Given the description of an element on the screen output the (x, y) to click on. 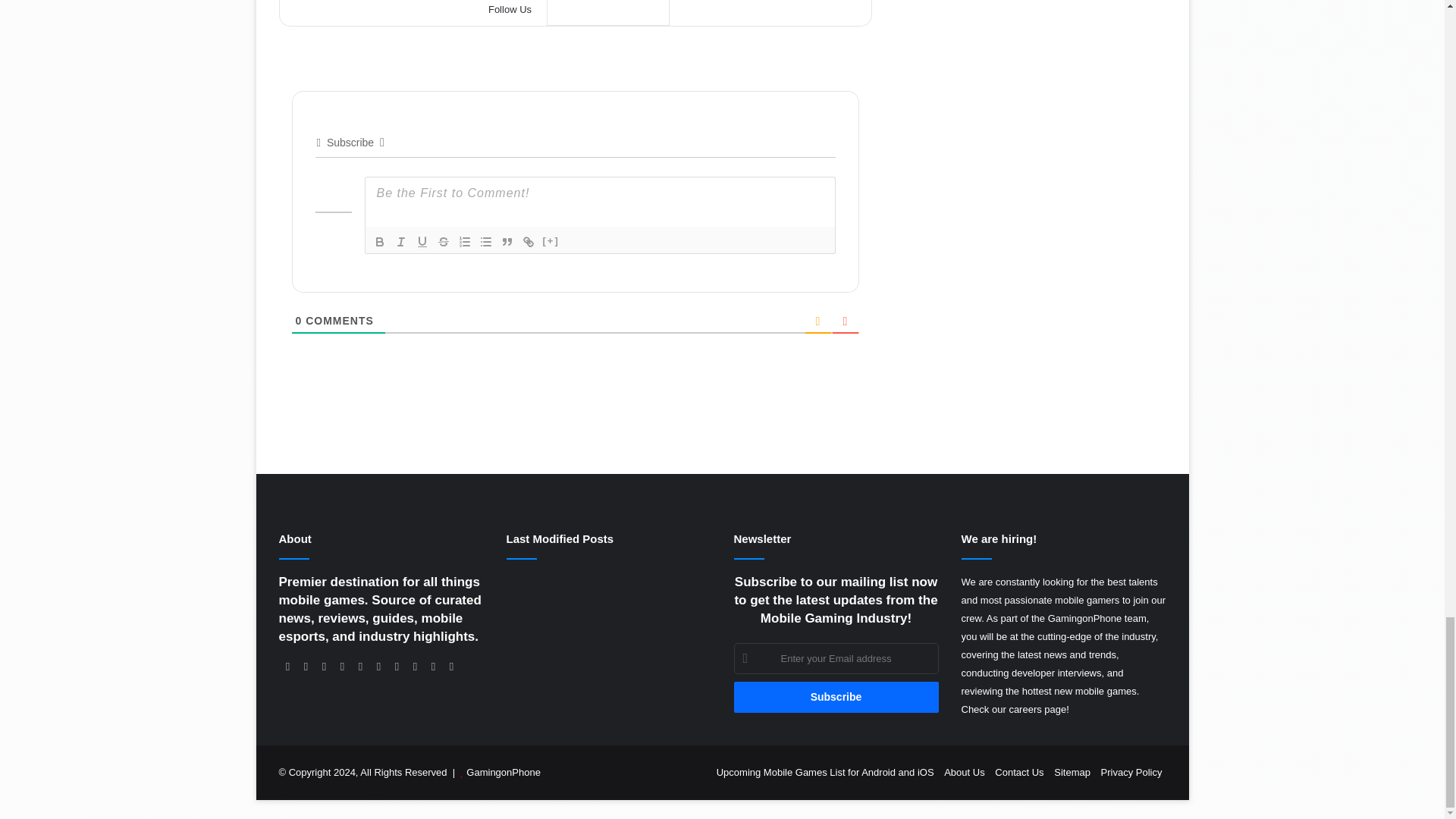
Google News (608, 12)
Strike (442, 241)
Italic (400, 241)
Subscribe (836, 696)
Unordered List (485, 241)
Ordered List (463, 241)
Underline (421, 241)
Bold (379, 241)
